Given the description of an element on the screen output the (x, y) to click on. 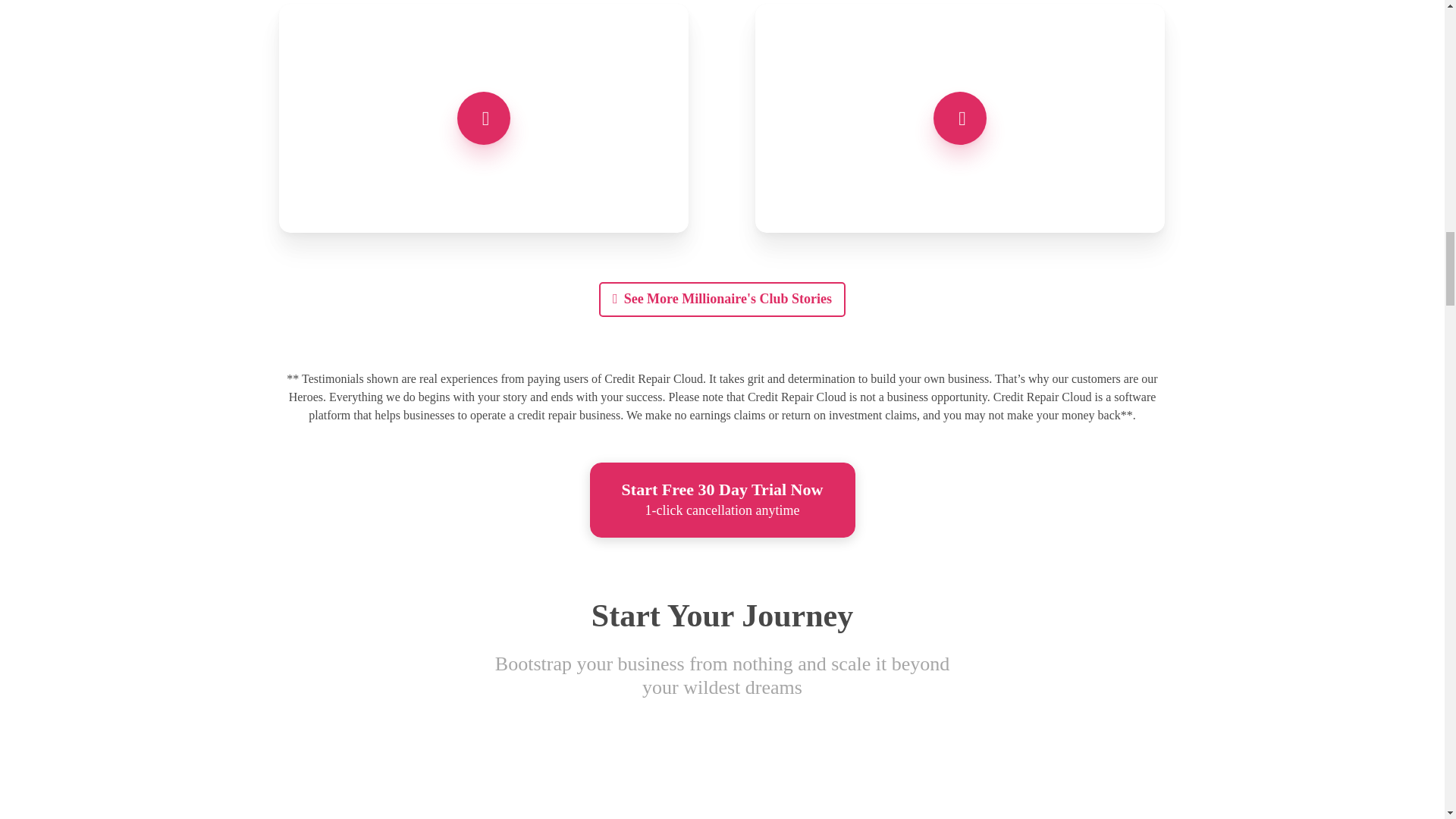
See More Millionaire's Club Stories (721, 298)
Start Free 30 Day Trial Now 1-click cancellation anytime (722, 499)
